Given the description of an element on the screen output the (x, y) to click on. 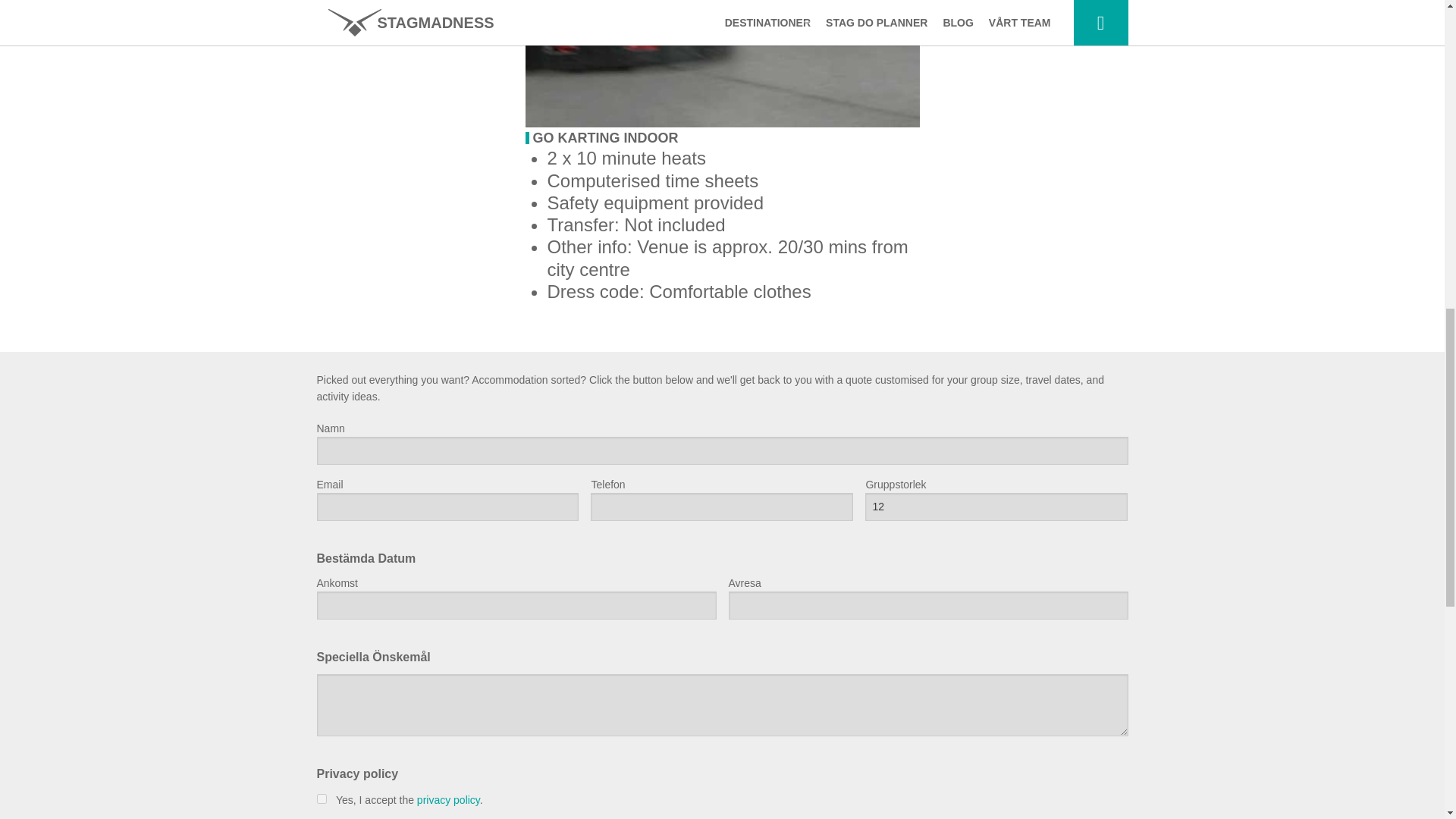
GO KARTING INDOOR (605, 137)
1 (321, 798)
12 (995, 506)
privacy policy (448, 799)
